Given the description of an element on the screen output the (x, y) to click on. 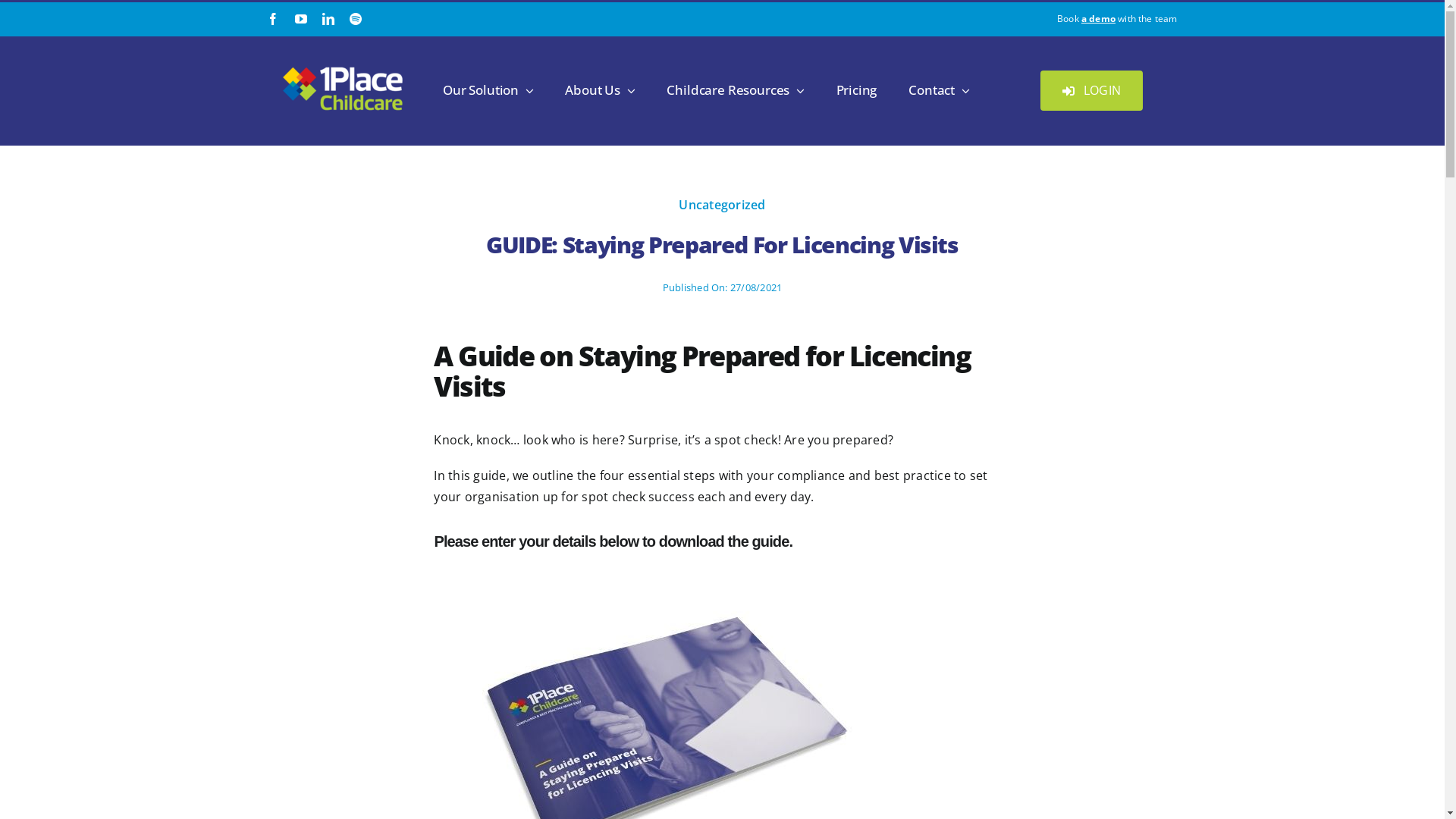
YouTube Element type: hover (300, 18)
Facebook Element type: hover (272, 18)
Childcare Resources Element type: text (735, 89)
Our Solution Element type: text (487, 89)
Pricing Element type: text (856, 89)
About Us Element type: text (599, 89)
a demo Element type: text (1098, 18)
Uncategorized Element type: text (721, 204)
Contact Element type: text (938, 89)
LinkedIn Element type: hover (328, 18)
LOGIN Element type: text (1091, 90)
Spotify Element type: hover (355, 18)
